Given the description of an element on the screen output the (x, y) to click on. 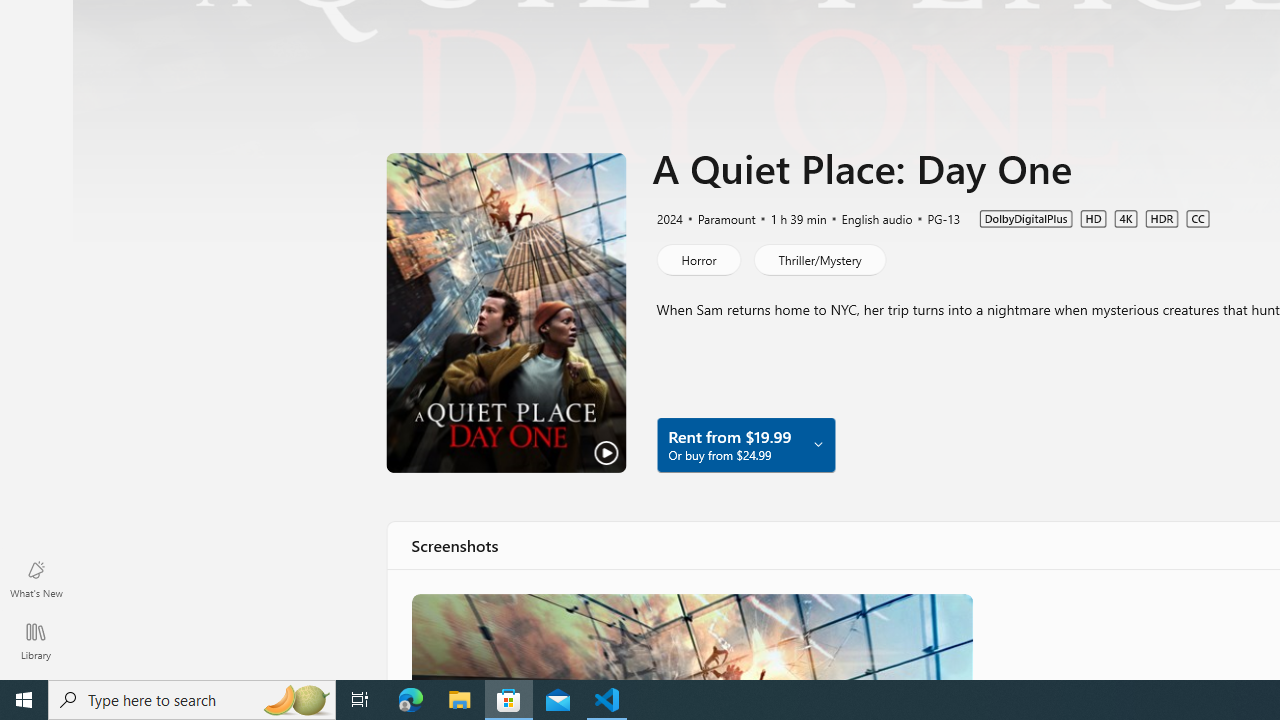
What's New (35, 578)
Paramount (717, 218)
PG-13 (934, 218)
Class: ListViewItem (690, 636)
Horror (698, 259)
Rent from $19.99 Or buy from $24.99 (745, 444)
Library (35, 640)
Class: Image (690, 636)
1 h 39 min (790, 218)
Thriller/Mystery (818, 259)
2024 (667, 218)
Play Trailer (505, 312)
English audio (868, 218)
